Given the description of an element on the screen output the (x, y) to click on. 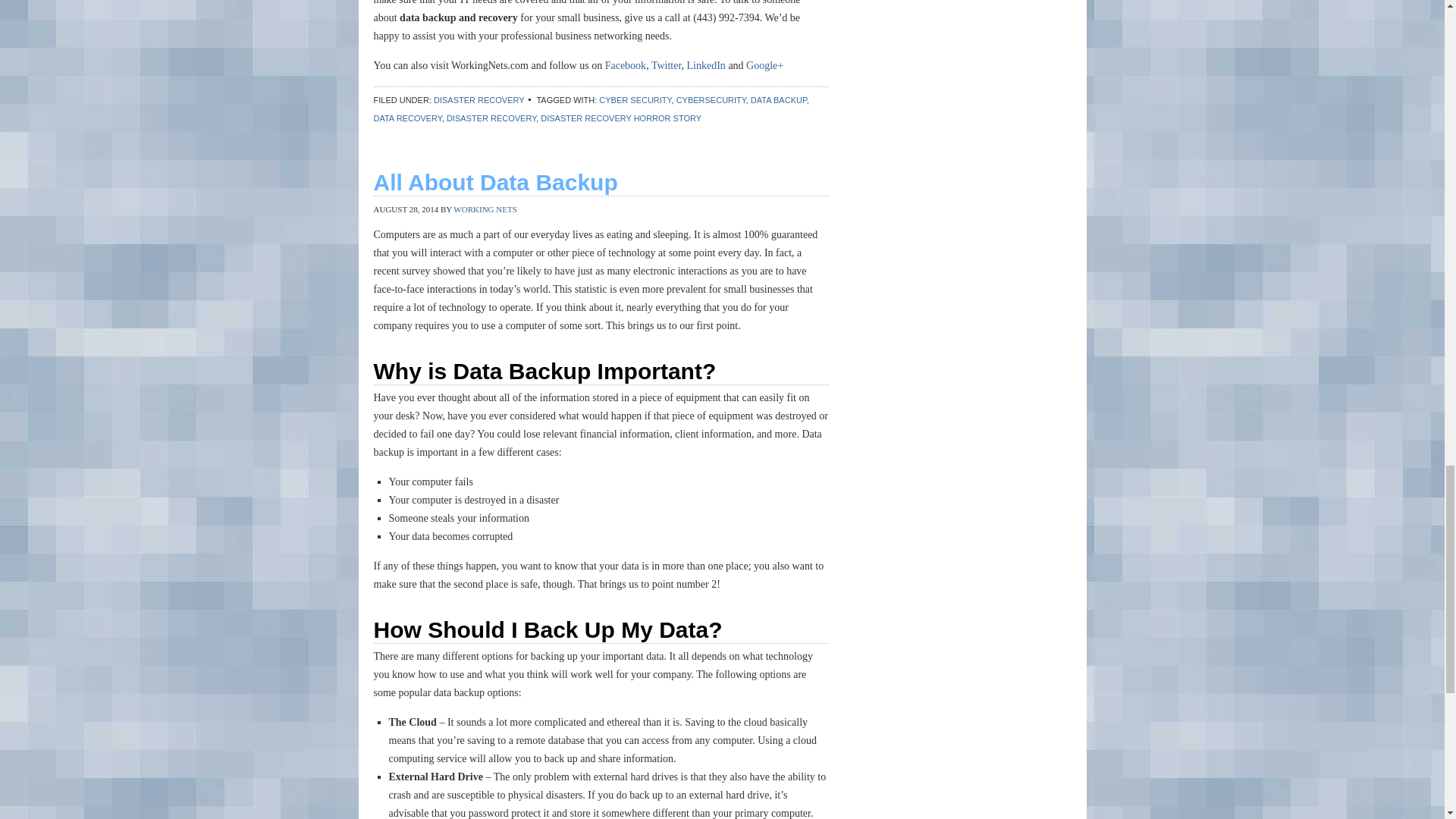
CYBER SECURITY (634, 99)
DATA BACKUP (778, 99)
DISASTER RECOVERY HORROR STORY (620, 117)
Twitter (665, 65)
Facebook (625, 65)
WORKING NETS (484, 208)
All About Data Backup (494, 181)
DISASTER RECOVERY (478, 99)
LinkedIn (706, 65)
2014-08-28T15:21:11-05:00 (405, 208)
